Given the description of an element on the screen output the (x, y) to click on. 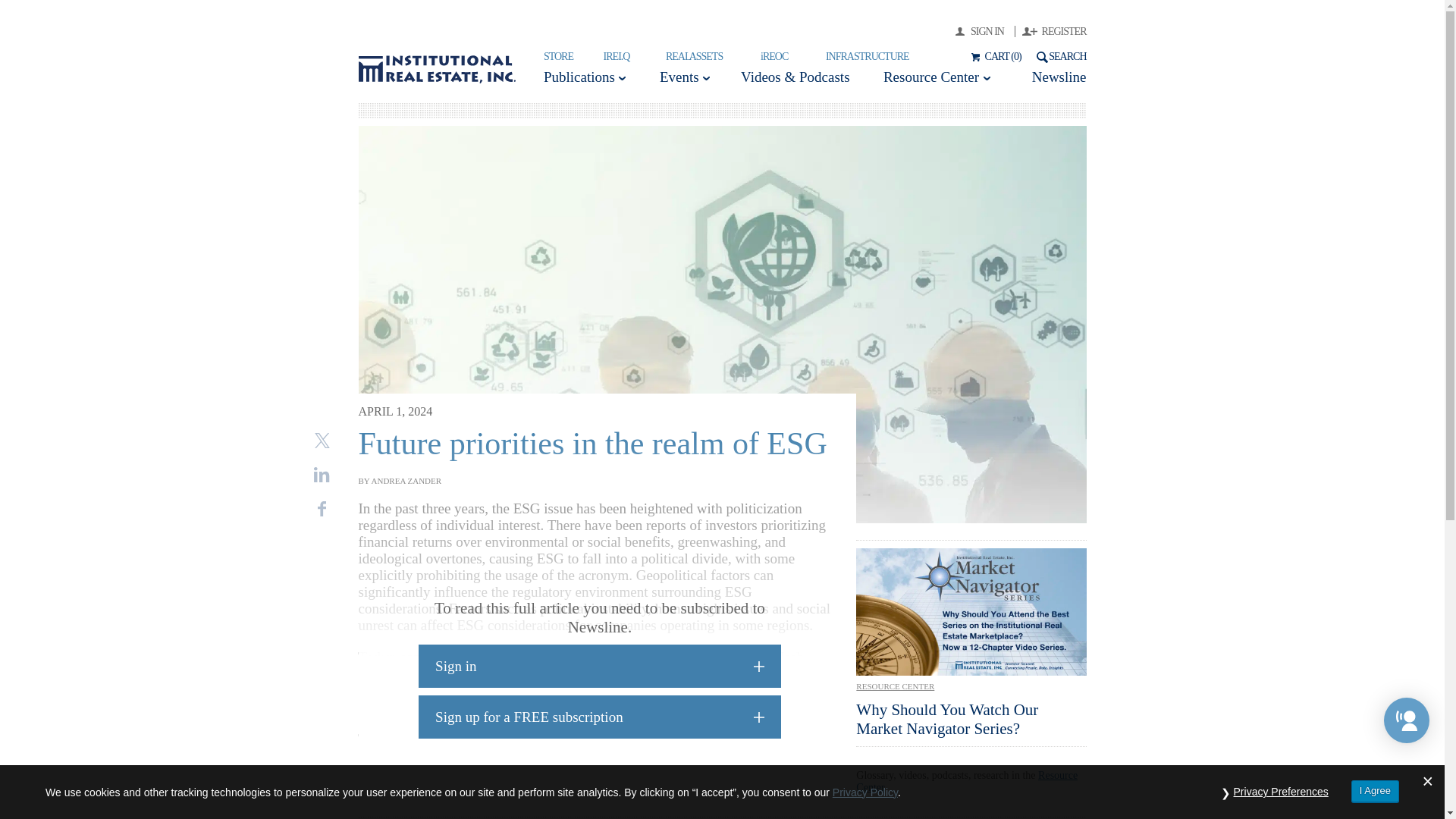
REAL ASSETS (693, 56)
View your shopping cart (994, 56)
Twitter (321, 440)
IREI.Q (617, 56)
iREOC (773, 56)
SIGN IN (984, 30)
LinkedIn (321, 474)
REGISTER (1054, 30)
INFRASTRUCTURE (866, 56)
SEARCH (1059, 56)
STORE (558, 56)
Privacy Policy (865, 791)
